Given the description of an element on the screen output the (x, y) to click on. 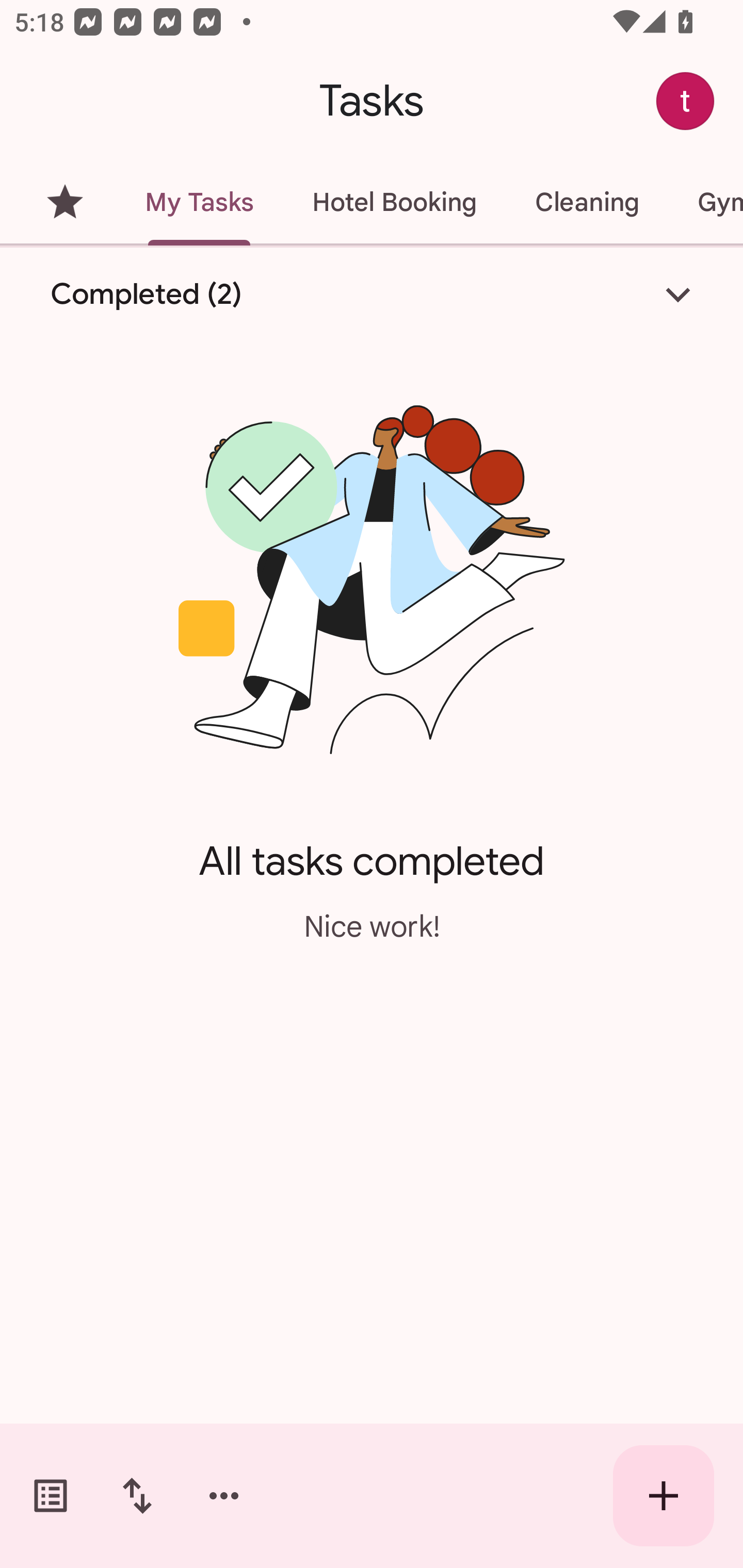
Starred (64, 202)
Hotel Booking (394, 202)
Cleaning (586, 202)
Completed (2) (371, 294)
Switch task lists (50, 1495)
Create new task (663, 1495)
Change sort order (136, 1495)
More options (223, 1495)
